Given the description of an element on the screen output the (x, y) to click on. 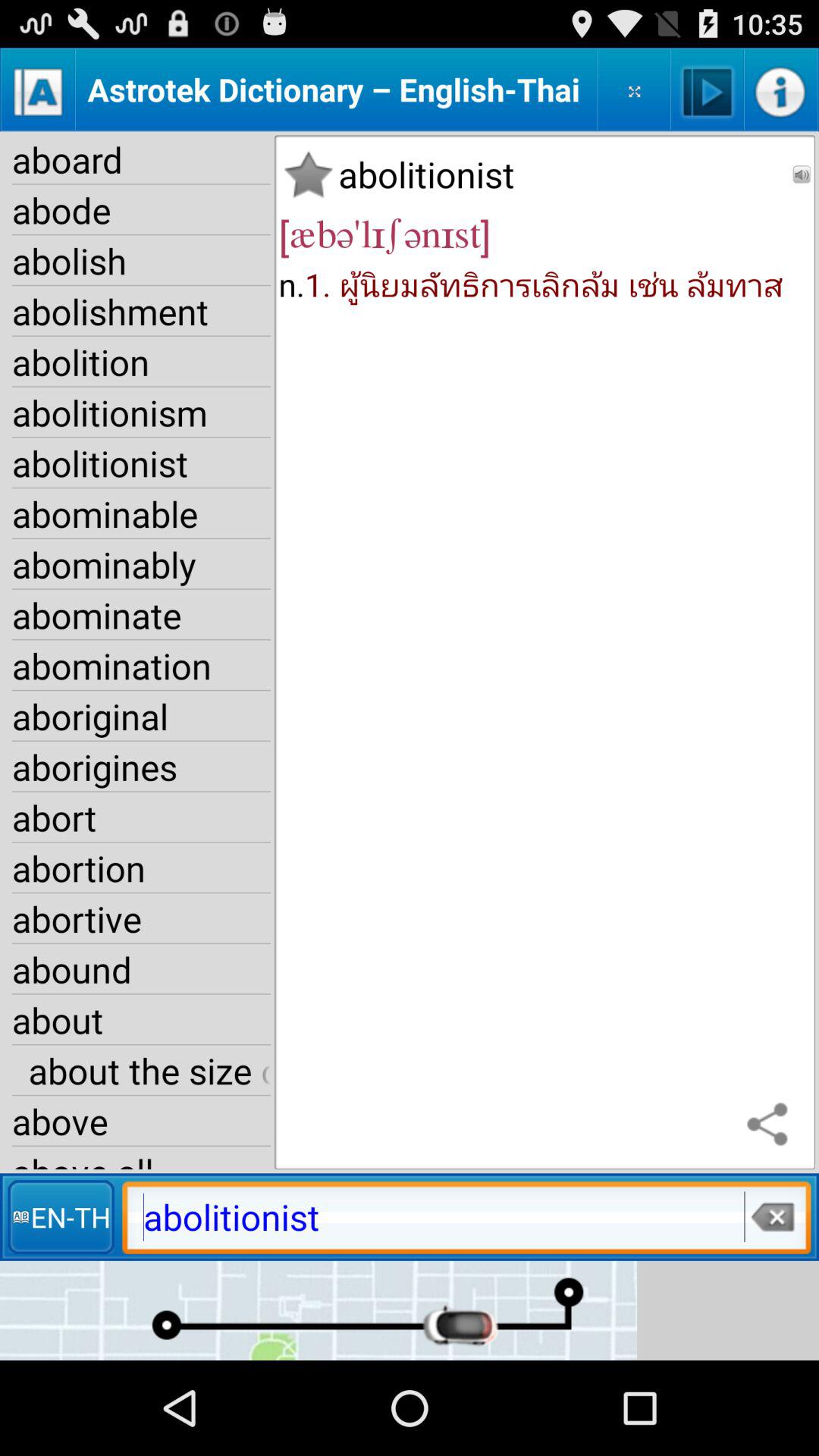
turn off item above aboard icon (37, 89)
